Given the description of an element on the screen output the (x, y) to click on. 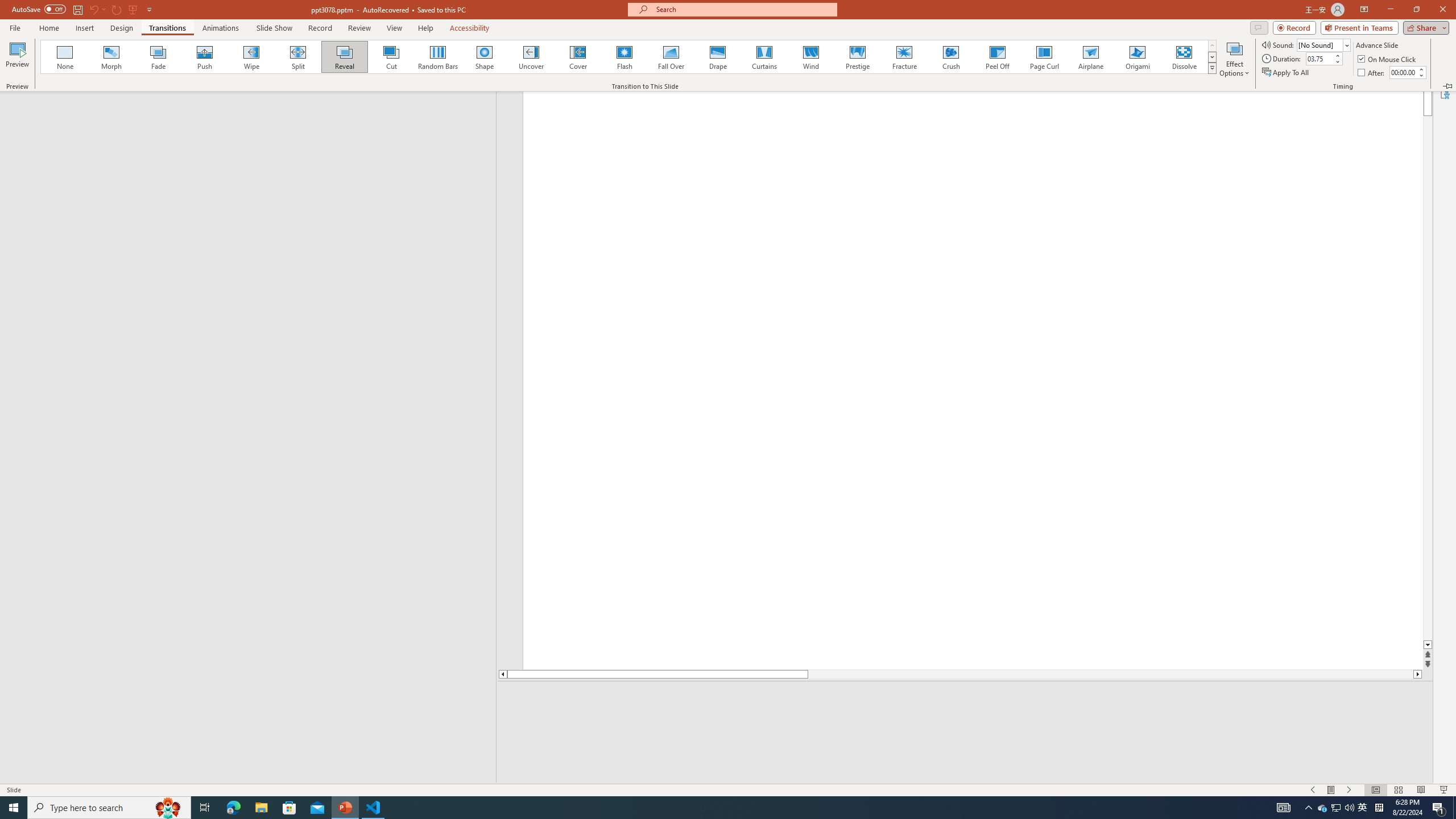
Microsoft Edge (233, 807)
Running applications (700, 807)
